Given the description of an element on the screen output the (x, y) to click on. 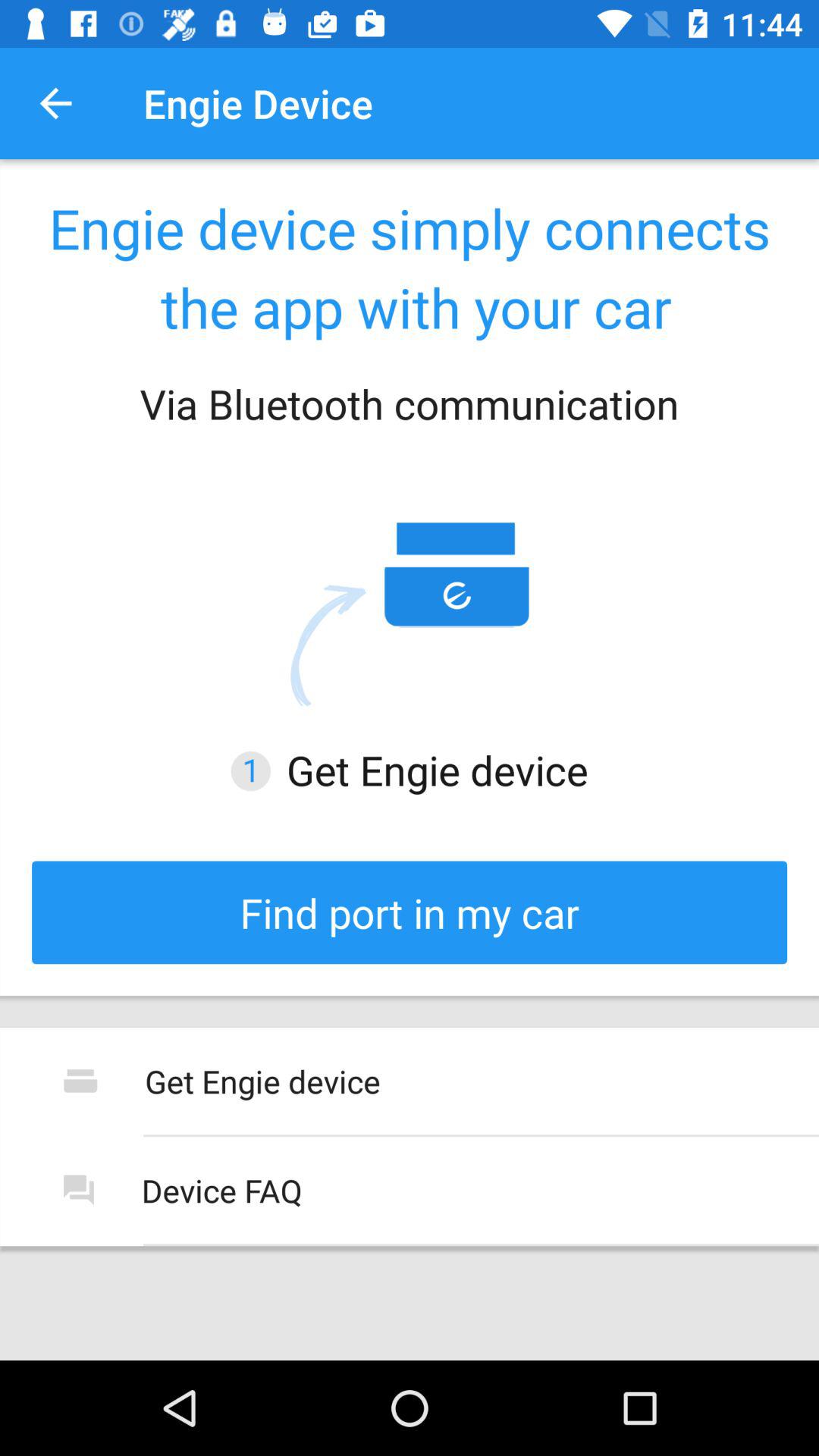
launch the item to the left of the engie device item (55, 103)
